Given the description of an element on the screen output the (x, y) to click on. 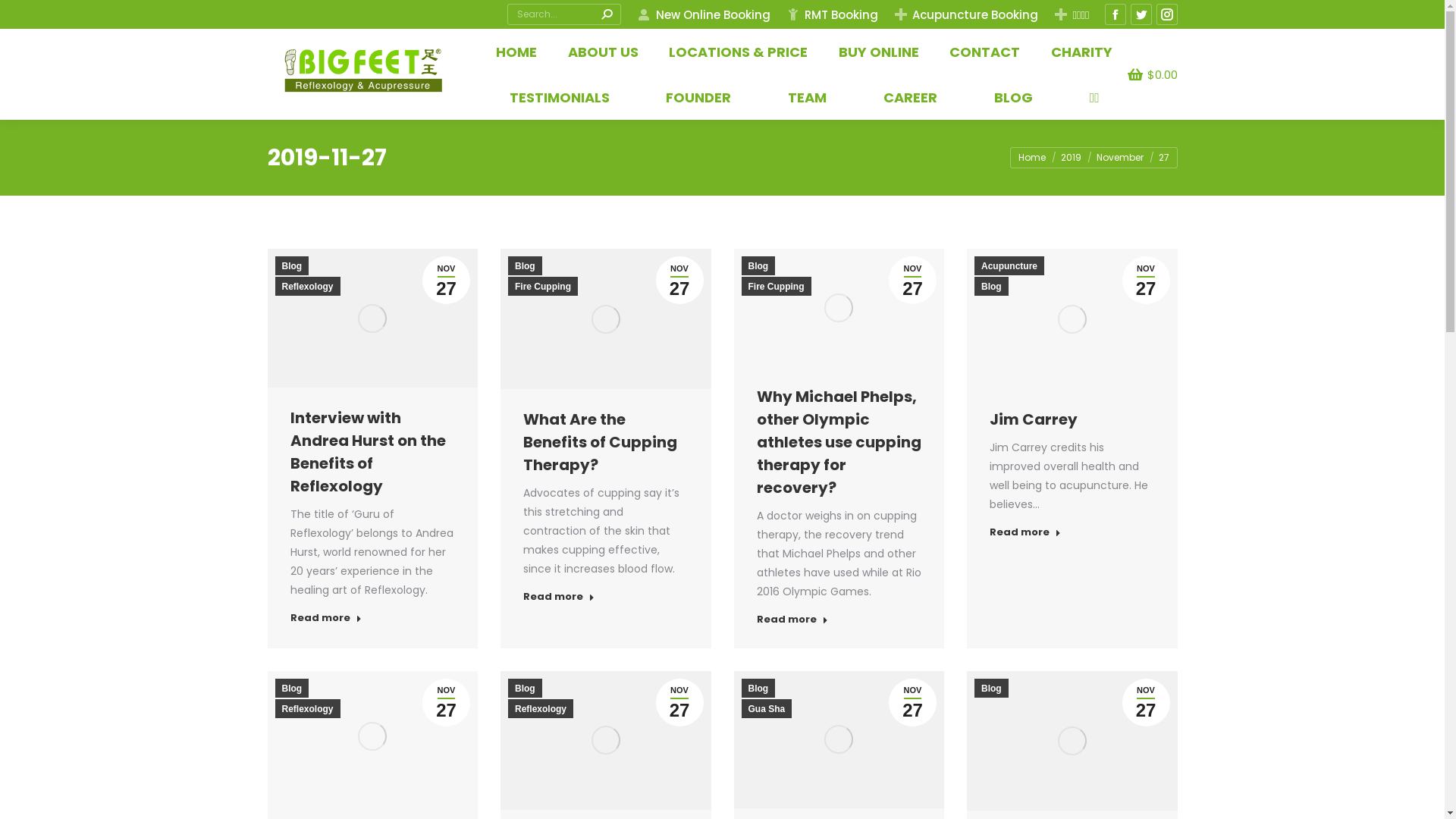
Fire Cupping Element type: text (776, 285)
Reflexology Element type: text (306, 285)
LOCATIONS & PRICE Element type: text (738, 51)
2019 Element type: text (1070, 156)
NOV
27 Element type: text (678, 702)
CAREER Element type: text (909, 96)
TESTIMONIALS Element type: text (559, 96)
November Element type: text (1119, 156)
Read more Element type: text (558, 598)
Fire Cupping Element type: text (542, 285)
NOV
27 Element type: text (912, 702)
Search form Element type: hover (564, 14)
Acupuncture Element type: text (1009, 265)
Acupuncture Booking Element type: text (965, 13)
Read more Element type: text (1024, 534)
BUY ONLINE Element type: text (878, 51)
$0.00 Element type: text (1151, 73)
Jim Carrey Element type: text (1033, 418)
Blog Element type: text (525, 687)
BLOG Element type: text (1013, 96)
NOV
27 Element type: text (1146, 702)
Go! Element type: text (23, 17)
Twitter page opens in new window Element type: text (1140, 14)
Gua Sha Element type: text (766, 708)
HOME Element type: text (516, 51)
Blog Element type: text (525, 265)
Reflexology Element type: text (540, 708)
Blog Element type: text (991, 687)
Reflexology Element type: text (306, 708)
NOV
27 Element type: text (912, 280)
NOV
27 Element type: text (446, 280)
FOUNDER Element type: text (698, 96)
Home Element type: text (1030, 156)
Blog Element type: text (991, 285)
NOV
27 Element type: text (678, 280)
NOV
27 Element type: text (446, 702)
Read more Element type: text (324, 620)
RMT Booking Element type: text (831, 13)
What Are the Benefits of Cupping Therapy? Element type: text (600, 441)
Read more Element type: text (792, 621)
New Online Booking Element type: text (702, 13)
Interview with Andrea Hurst on the Benefits of Reflexology Element type: text (367, 451)
Blog Element type: text (758, 687)
TEAM Element type: text (807, 96)
Blog Element type: text (291, 265)
Blog Element type: text (291, 687)
Blog Element type: text (758, 265)
Instagram page opens in new window Element type: text (1166, 14)
Facebook page opens in new window Element type: text (1115, 14)
CHARITY Element type: text (1081, 51)
NOV
27 Element type: text (1146, 280)
CONTACT Element type: text (984, 51)
ABOUT US Element type: text (603, 51)
